Given the description of an element on the screen output the (x, y) to click on. 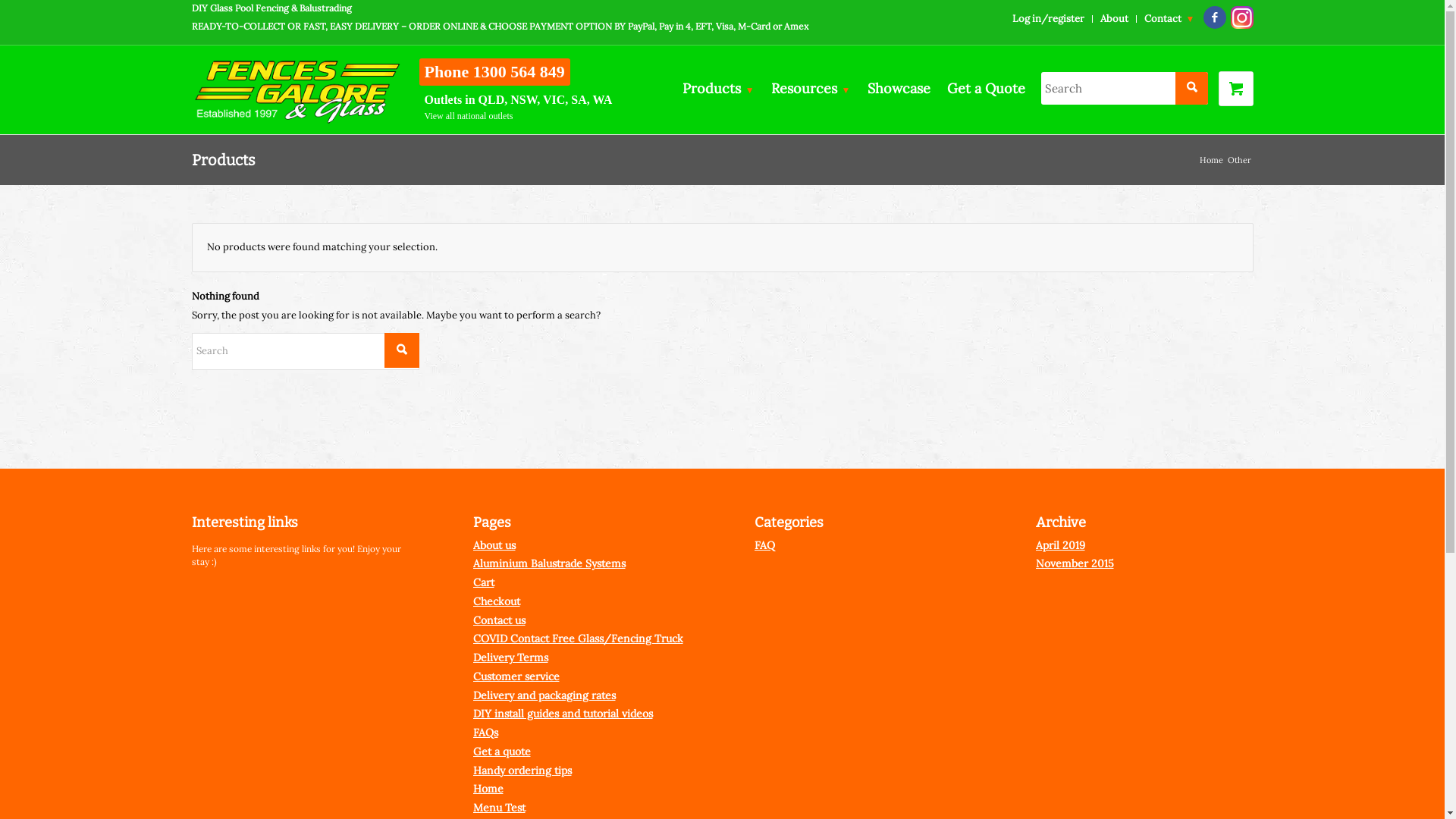
Get a Quote Element type: text (985, 87)
Resources Element type: text (810, 87)
About Element type: text (1114, 18)
Products Element type: text (222, 159)
Cart Element type: text (483, 582)
View all national outlets Element type: text (468, 115)
Checkout Element type: text (496, 601)
Delivery and packaging rates Element type: text (544, 695)
Instagram Element type: hover (1241, 17)
FAQ Element type: text (763, 545)
Contact Element type: text (1169, 18)
Handy ordering tips Element type: text (522, 770)
Outlets in QLD, NSW, VIC, SA, WA Element type: text (518, 99)
Facebook Element type: hover (1213, 17)
FAQs Element type: text (485, 732)
COVID Contact Free Glass/Fencing Truck Delivery Terms Element type: text (578, 647)
Home Element type: text (488, 788)
April 2019 Element type: text (1060, 545)
Menu Test Element type: text (499, 807)
Home Element type: text (1210, 160)
Contact us Element type: text (499, 620)
Fences Galore Web Logo Element type: hover (297, 87)
Get a quote Element type: text (501, 751)
Log in/register Element type: text (1048, 18)
Aluminium Balustrade Systems Element type: text (549, 563)
DIY install guides and tutorial videos Element type: text (562, 713)
Customer service Element type: text (516, 676)
Fences Galore Web Logo Element type: hover (297, 87)
Showcase Element type: text (898, 87)
November 2015 Element type: text (1074, 563)
About us Element type: text (494, 545)
Products Element type: text (718, 87)
